Given the description of an element on the screen output the (x, y) to click on. 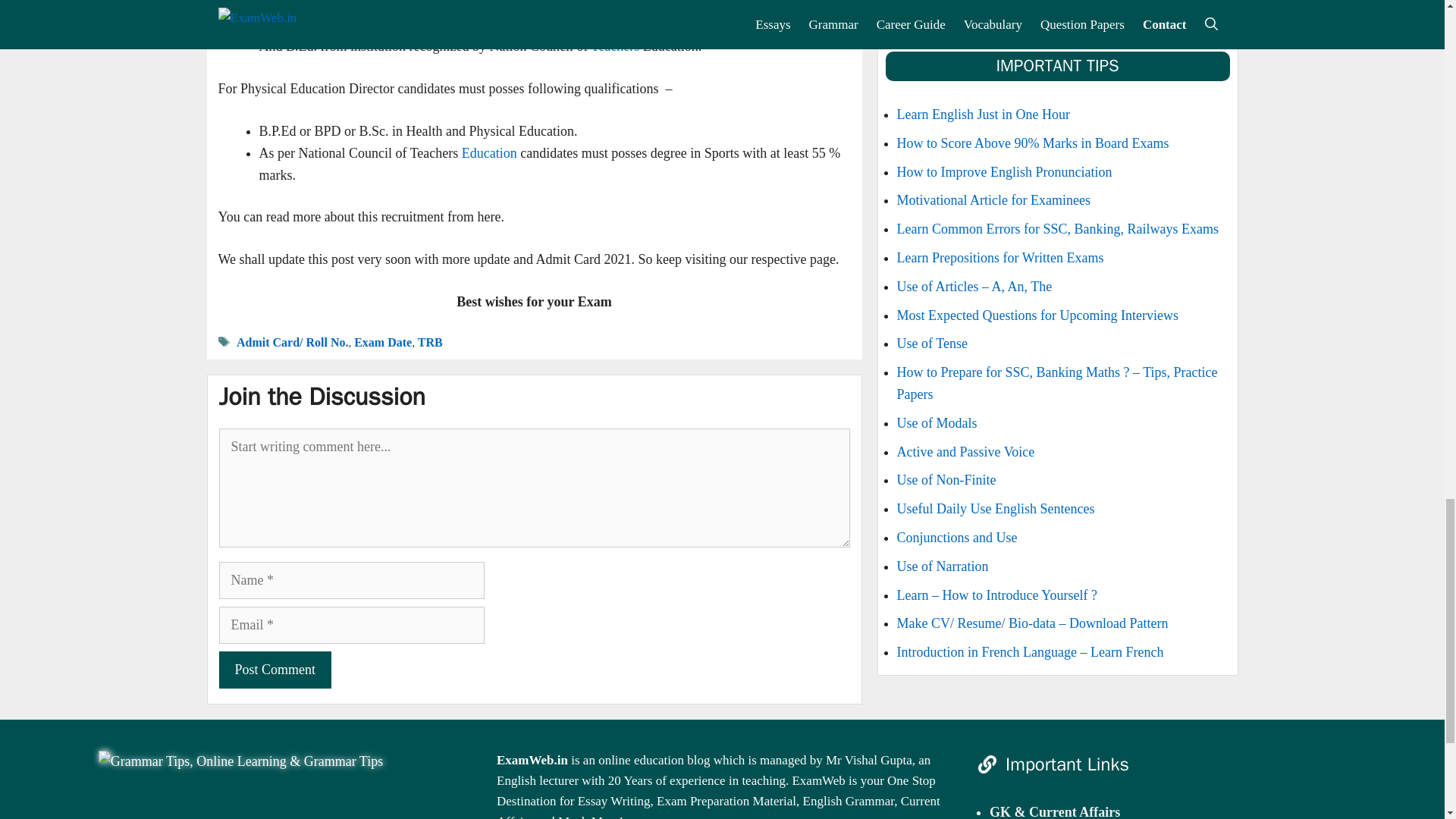
examweb.in (240, 762)
Exam Date (382, 341)
Teachers (615, 46)
Post Comment (274, 669)
Education (488, 152)
TRB (429, 341)
Post Comment (274, 669)
